Given the description of an element on the screen output the (x, y) to click on. 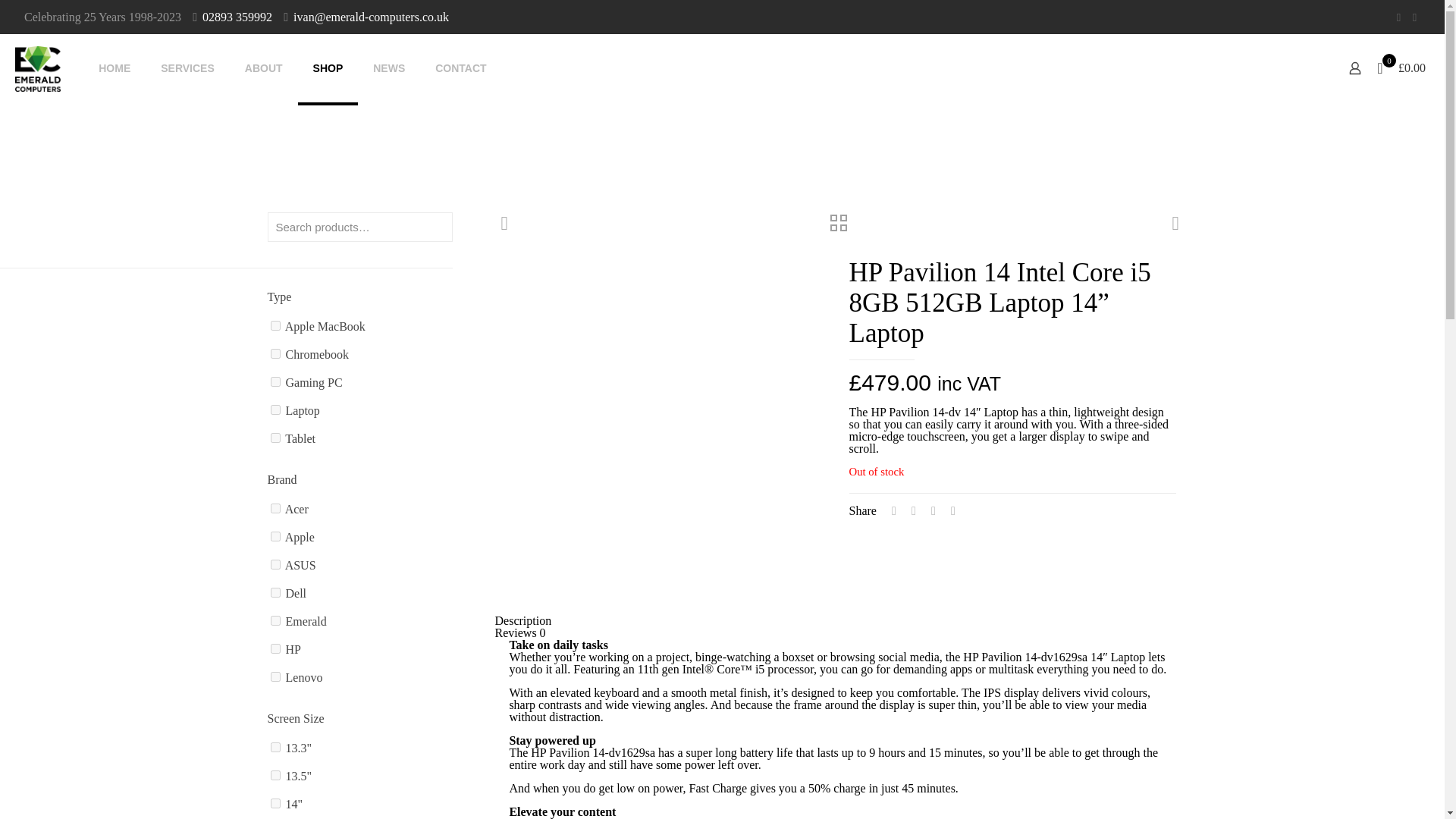
acer (274, 508)
chromebook (274, 353)
apple (274, 536)
dell (274, 592)
ABOUT (264, 68)
CONTACT (460, 68)
asus (274, 564)
gaming-pc (274, 381)
emerald (274, 620)
Facebook (1399, 17)
13-3 (274, 747)
Description (523, 620)
NEWS (389, 68)
lenovo (274, 676)
SERVICES (187, 68)
